Given the description of an element on the screen output the (x, y) to click on. 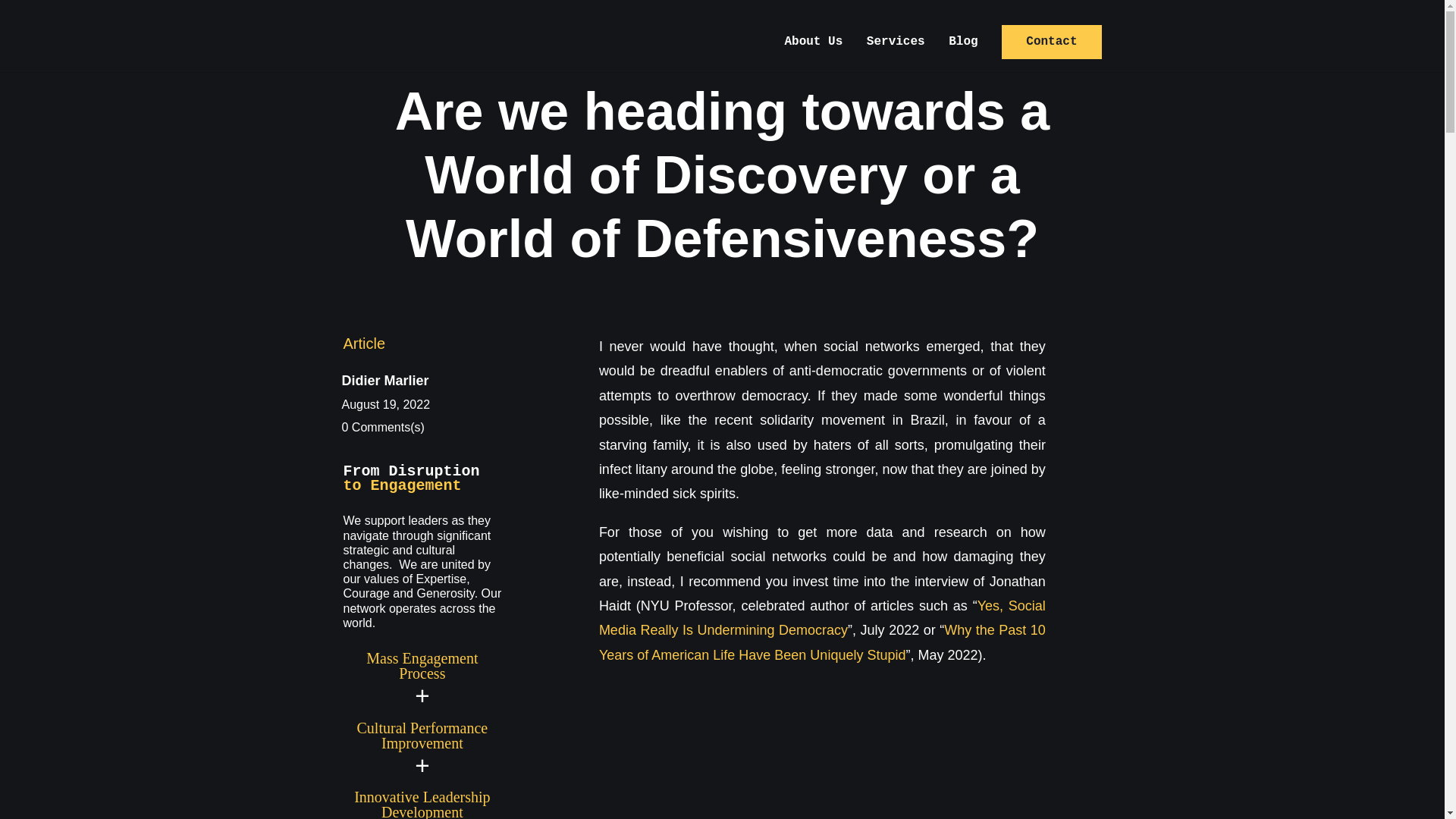
Contact (1050, 41)
Yes, Social Media Really Is Undermining Democracy (821, 618)
Services (895, 54)
About Us (813, 54)
